Given the description of an element on the screen output the (x, y) to click on. 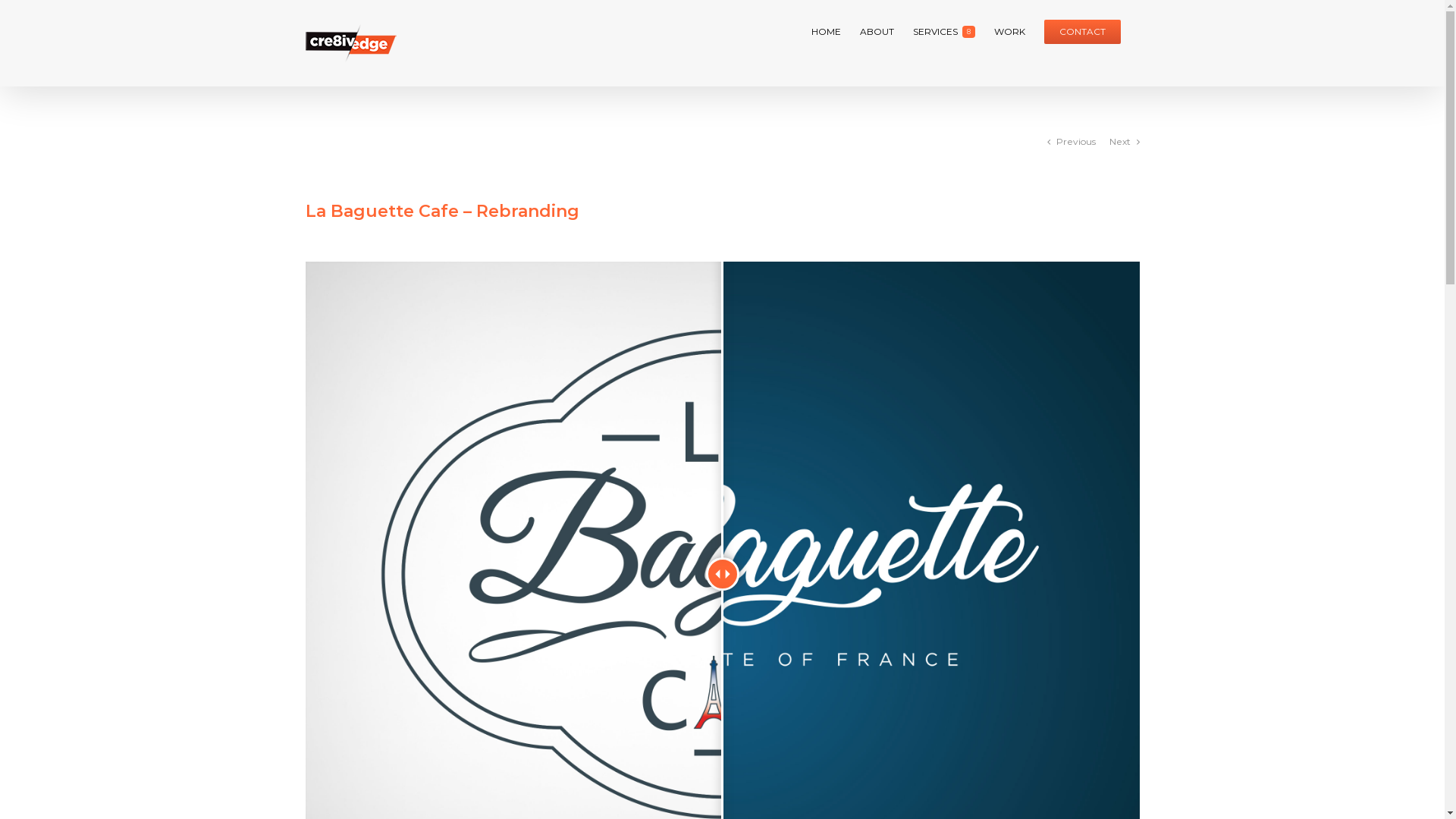
Next Element type: text (1118, 141)
ABOUT Element type: text (876, 31)
WORK Element type: text (1008, 31)
SERVICES
8 Element type: text (944, 31)
CONTACT Element type: text (1081, 31)
Previous Element type: text (1075, 141)
HOME Element type: text (825, 31)
